Given the description of an element on the screen output the (x, y) to click on. 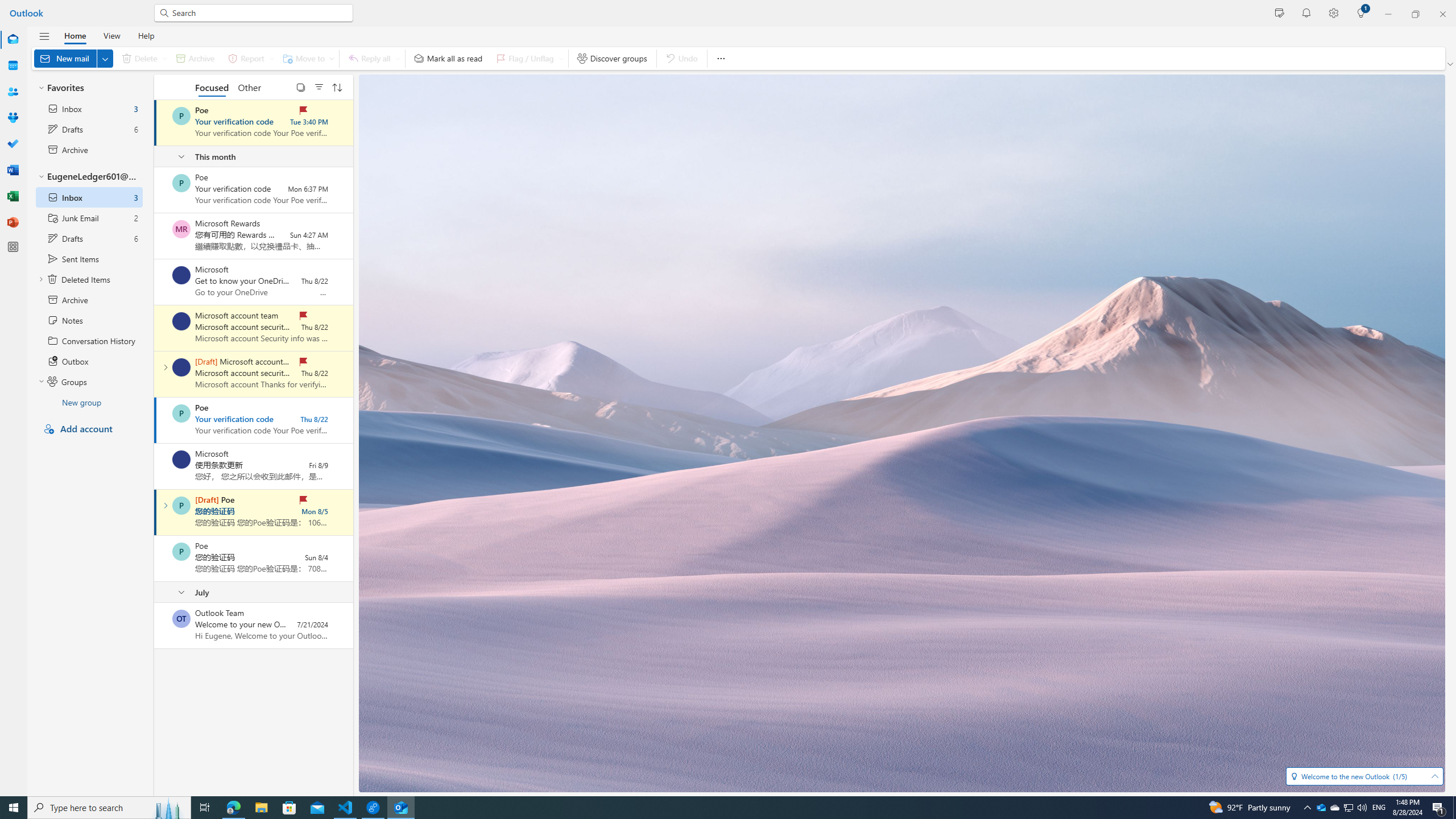
Mail (12, 39)
More options (720, 58)
Word (12, 169)
Hide navigation pane (44, 36)
Calendar (12, 65)
Expand to see more New options (104, 58)
Home (74, 35)
Outlook Team (180, 618)
Report (248, 58)
Select (300, 86)
Reply all (372, 58)
Filter (318, 86)
Select a conversation (180, 618)
Calendar (12, 65)
